Given the description of an element on the screen output the (x, y) to click on. 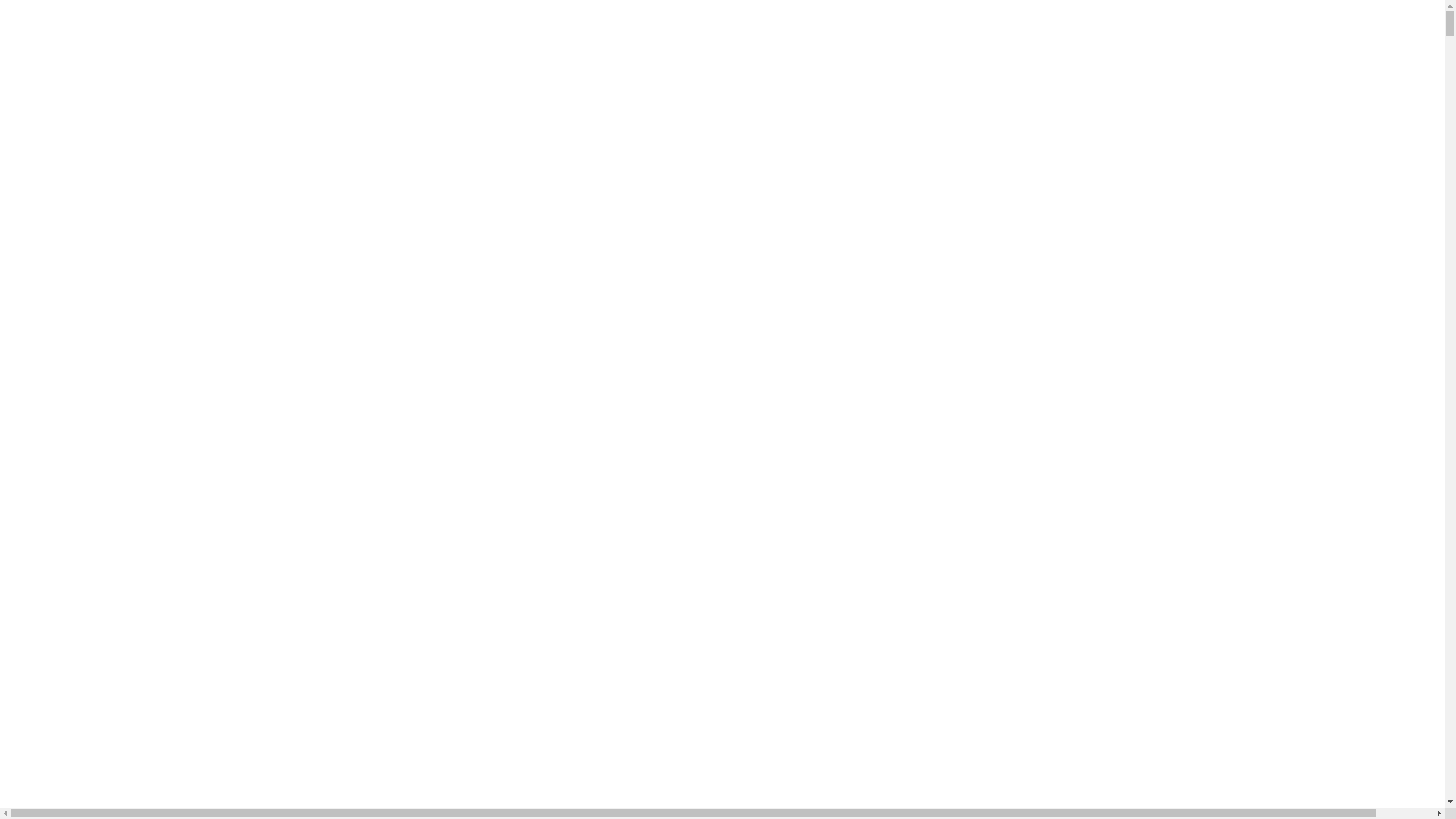
Home Element type: text (25, 100)
Blog Element type: text (140, 100)
Profile Element type: text (189, 100)
Discography Element type: text (259, 100)
Gallery Element type: text (331, 100)
Contact Element type: text (498, 100)
YouTube Element type: text (435, 100)
DAISUKE SHIROZU OFFICIAL WEB SITE Element type: text (219, 30)
Schedule Element type: text (84, 100)
Link Element type: text (381, 100)
